Given the description of an element on the screen output the (x, y) to click on. 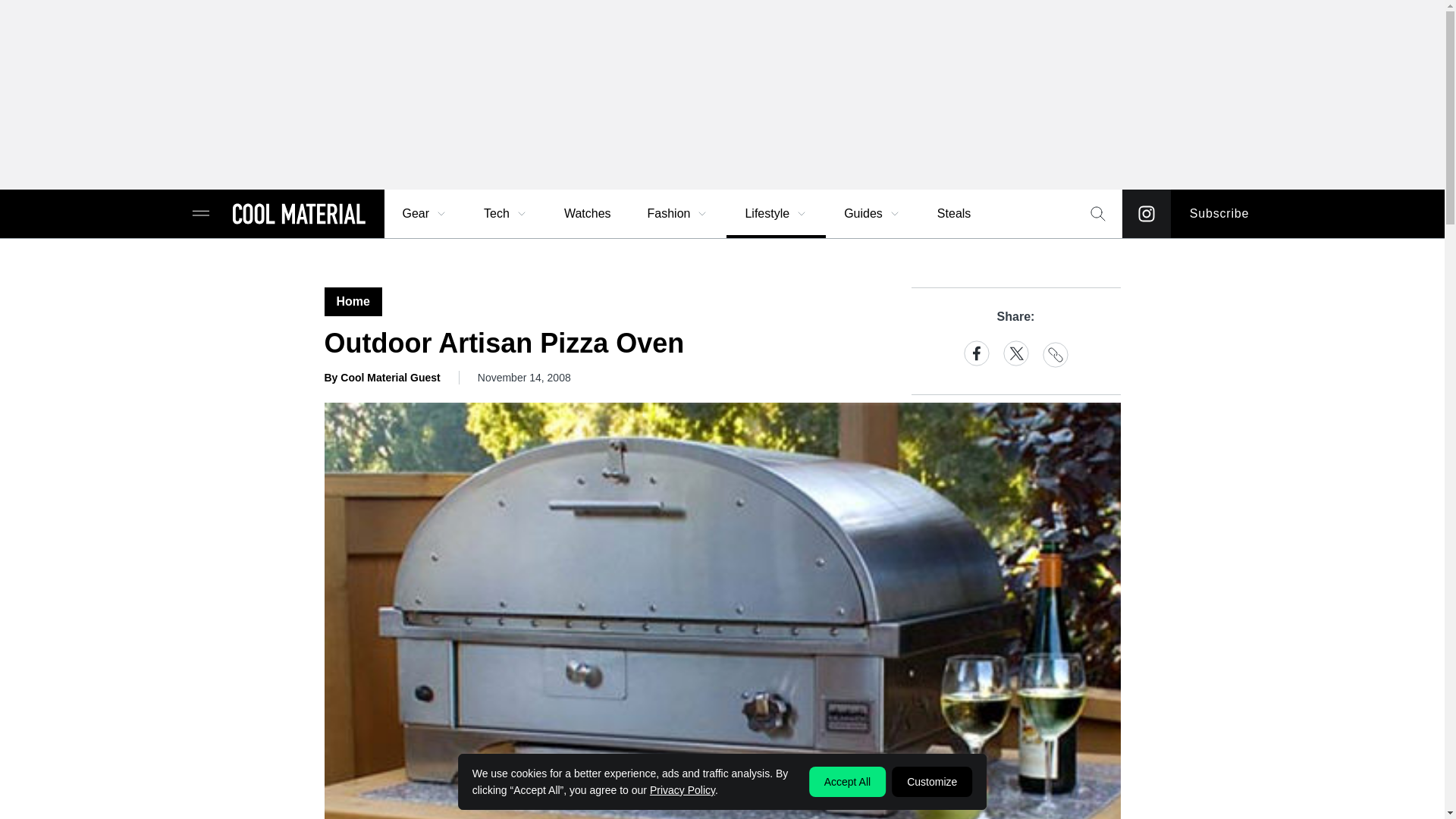
Customize (931, 781)
Accept All (847, 781)
Tech (505, 213)
Lifestyle (775, 213)
Watches (587, 213)
Fashion (677, 213)
Privacy Policy (681, 789)
Gear (424, 213)
